Given the description of an element on the screen output the (x, y) to click on. 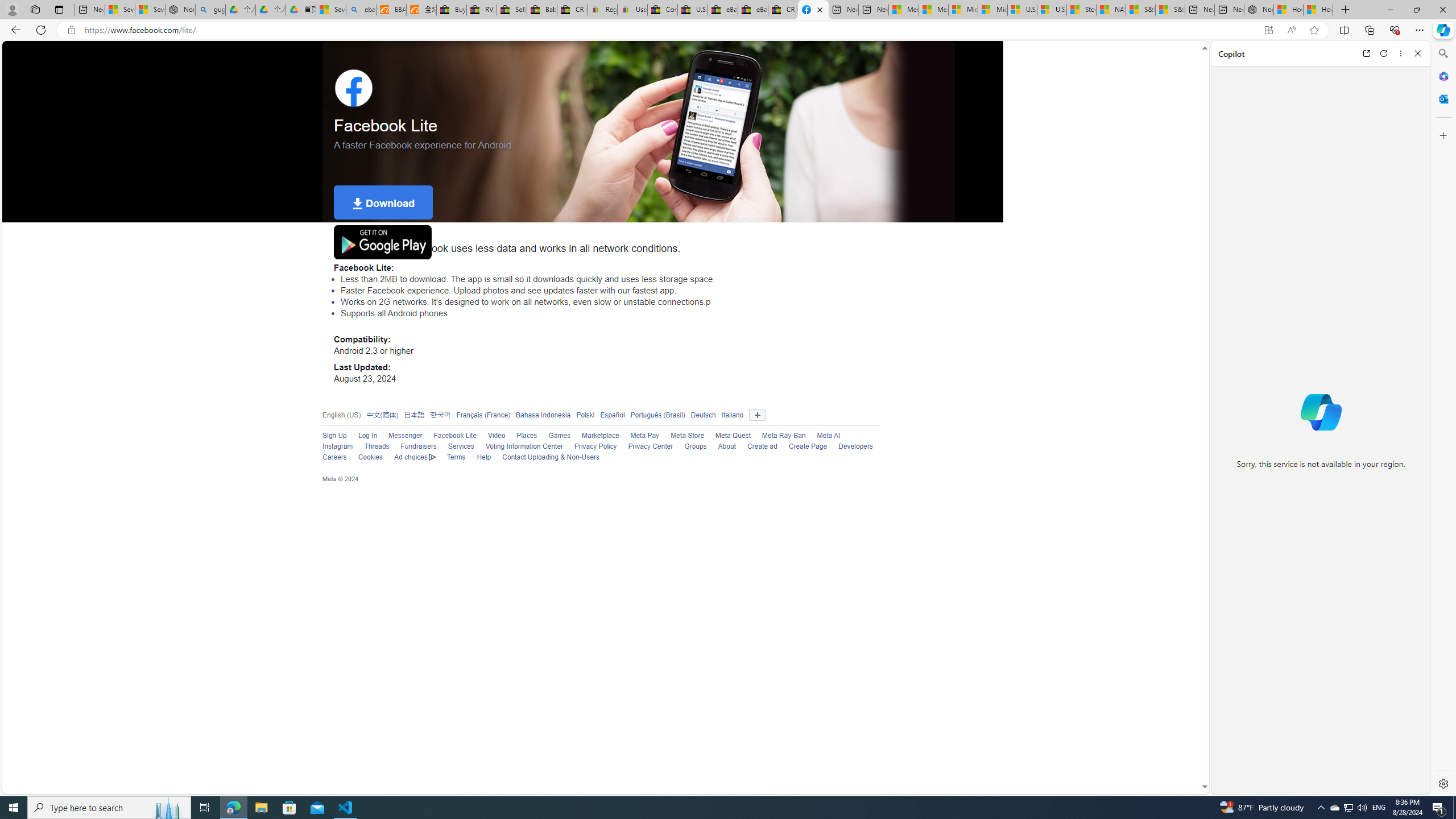
Show more languages (757, 414)
Read aloud this page (Ctrl+Shift+U) (1291, 29)
Instagram (332, 446)
Video (496, 435)
Cookies (370, 456)
App bar (728, 29)
Instagram (337, 446)
Create ad (761, 446)
Developers (855, 446)
Deutsch (700, 415)
Fundraisers (418, 446)
Services (460, 446)
